Given the description of an element on the screen output the (x, y) to click on. 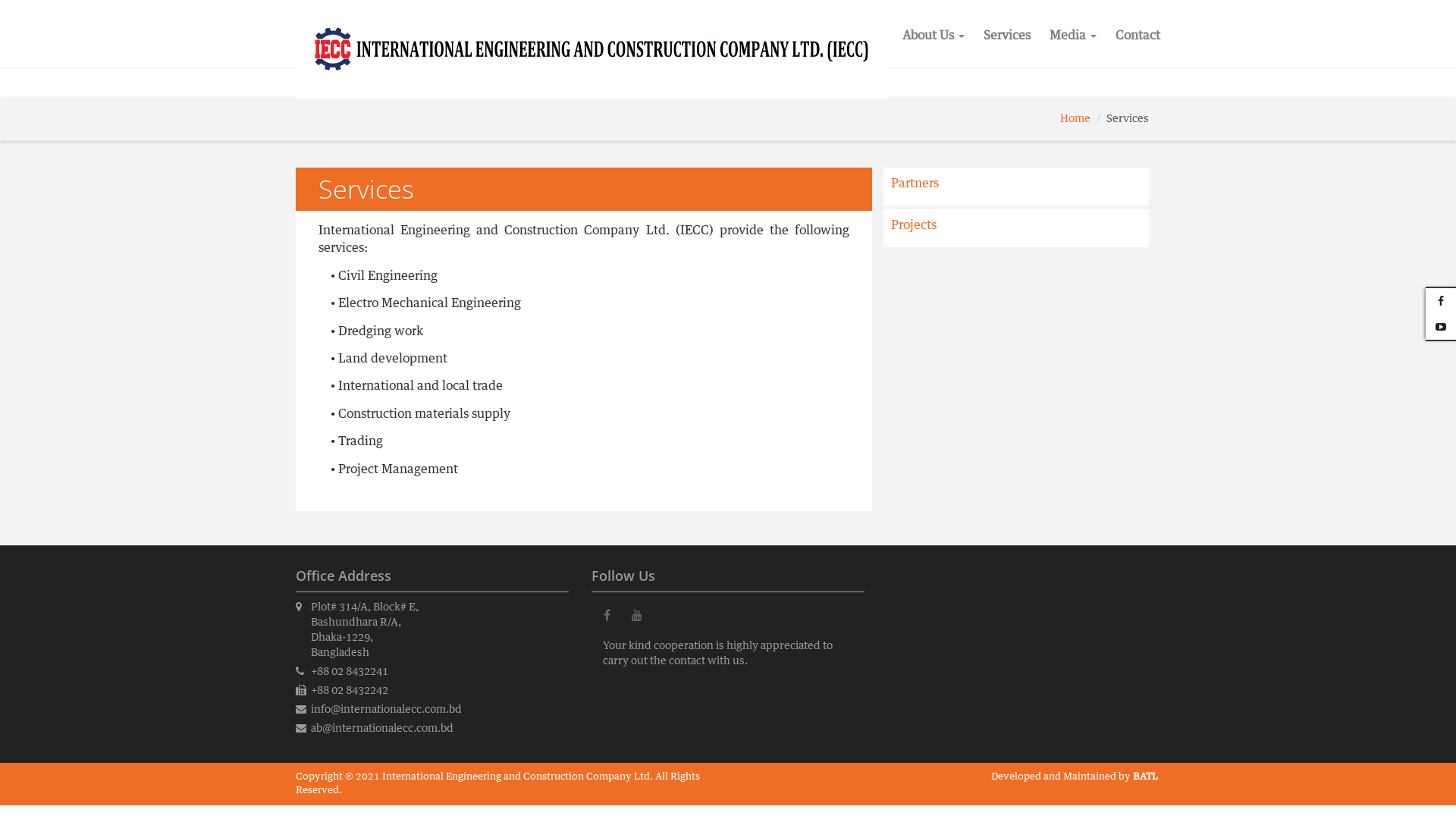
Media Element type: text (1072, 34)
Home Element type: text (1075, 118)
Projects Element type: text (913, 225)
About Us Element type: text (933, 34)
Youtube Element type: text (636, 629)
Facebook Element type: text (606, 629)
Partners Element type: text (914, 183)
Services Element type: text (1006, 34)
Contact Element type: text (1137, 34)
IECC. Element type: hover (591, 49)
